Given the description of an element on the screen output the (x, y) to click on. 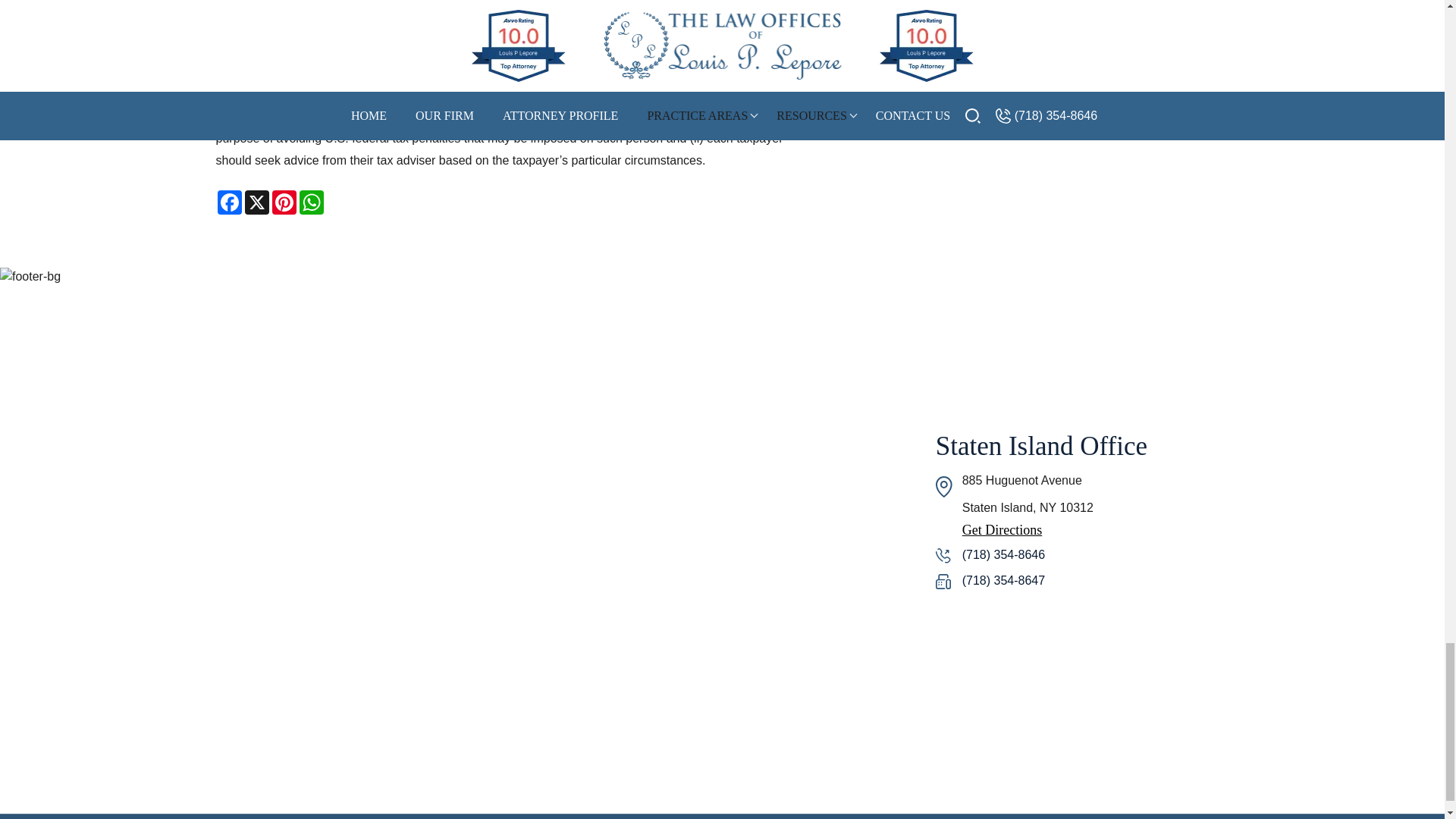
Facebook (229, 202)
X (256, 202)
WhatsApp (310, 202)
Pinterest (283, 202)
Get Directions (1080, 530)
